Given the description of an element on the screen output the (x, y) to click on. 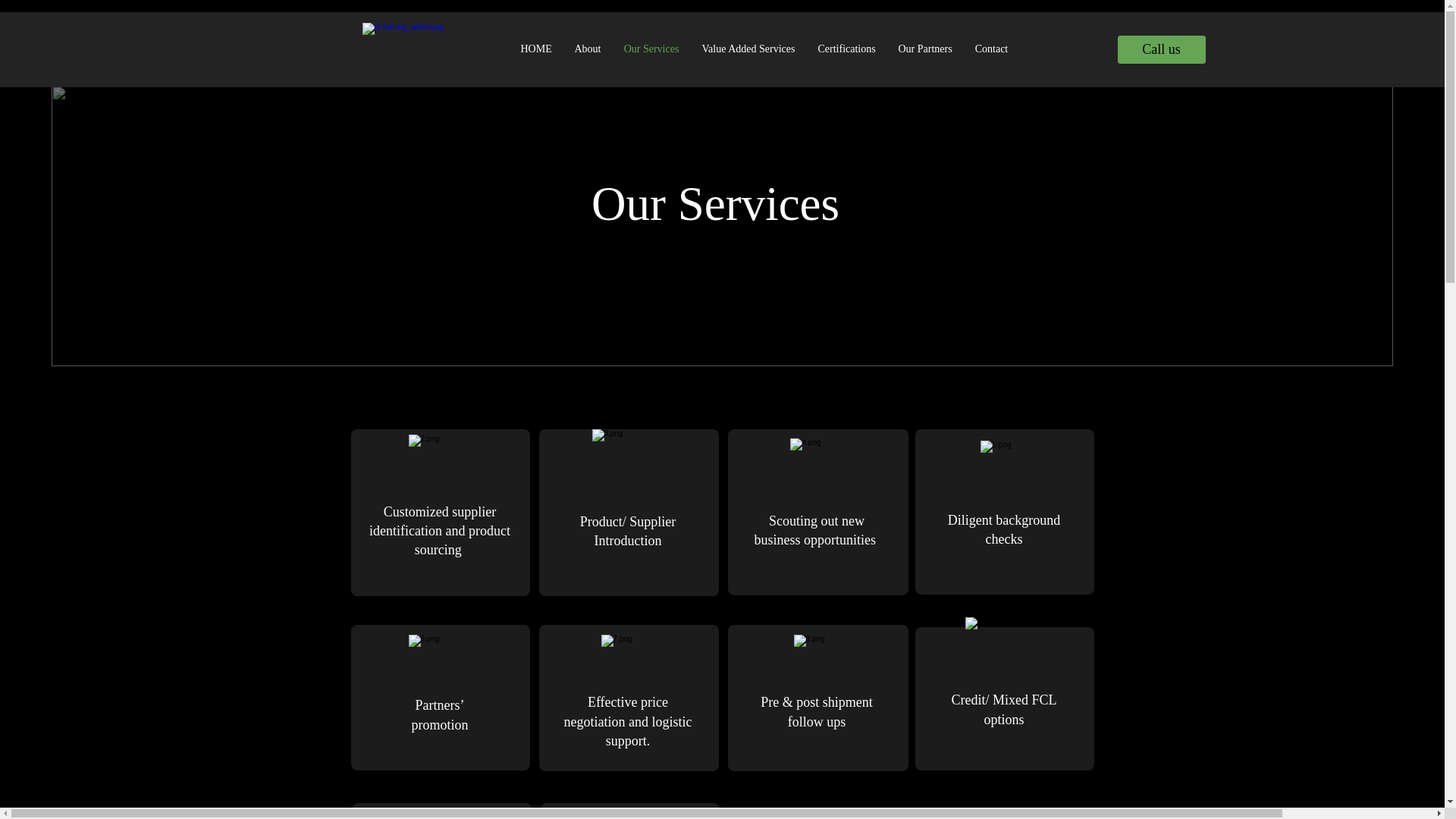
Our Services (651, 48)
Call us (1161, 49)
About (586, 48)
Certifications (846, 48)
Value Added Services (748, 48)
HOME (536, 48)
Contact (990, 48)
Our Partners (924, 48)
